Given the description of an element on the screen output the (x, y) to click on. 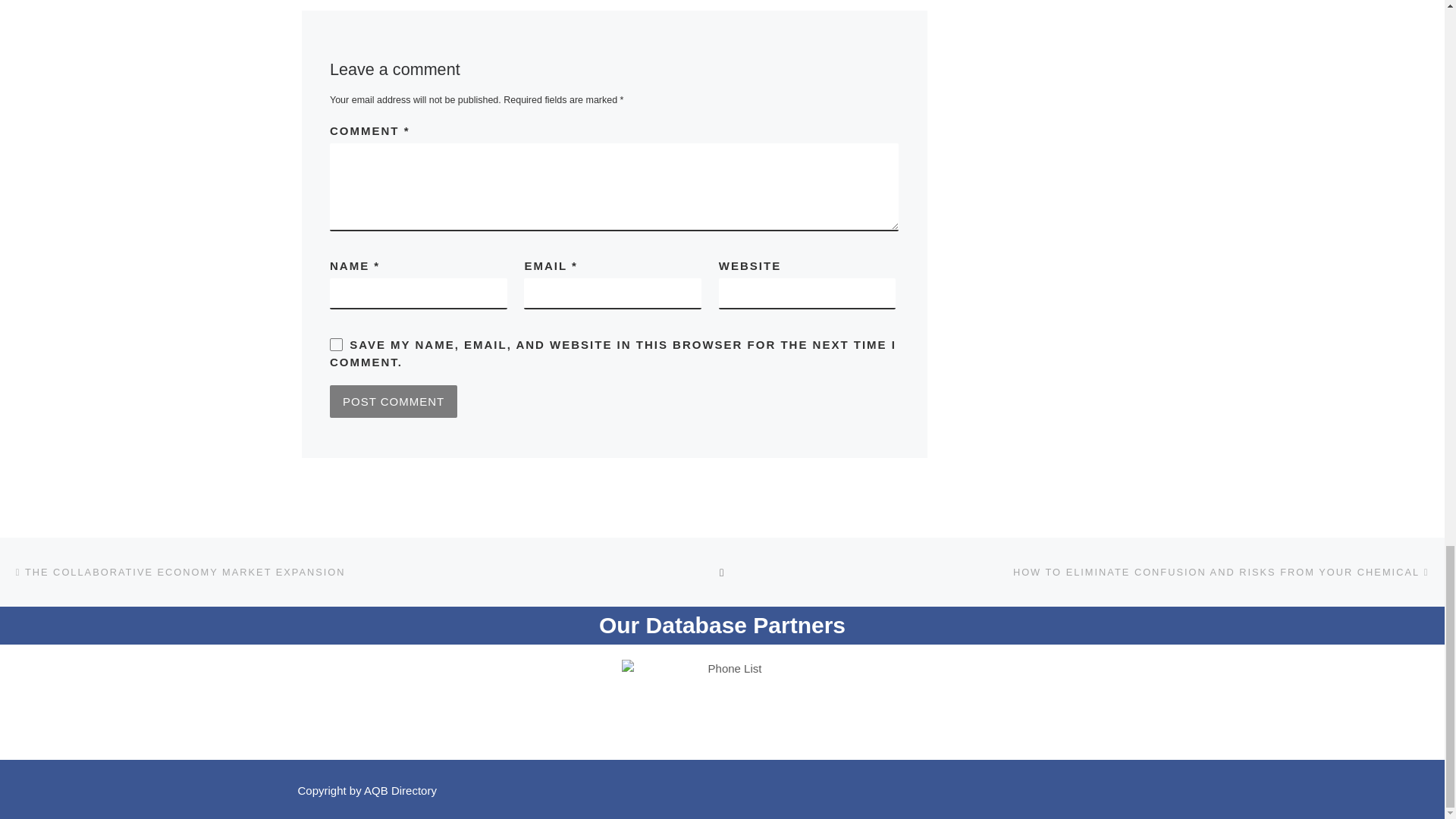
Post Comment (393, 400)
yes (336, 344)
